Given the description of an element on the screen output the (x, y) to click on. 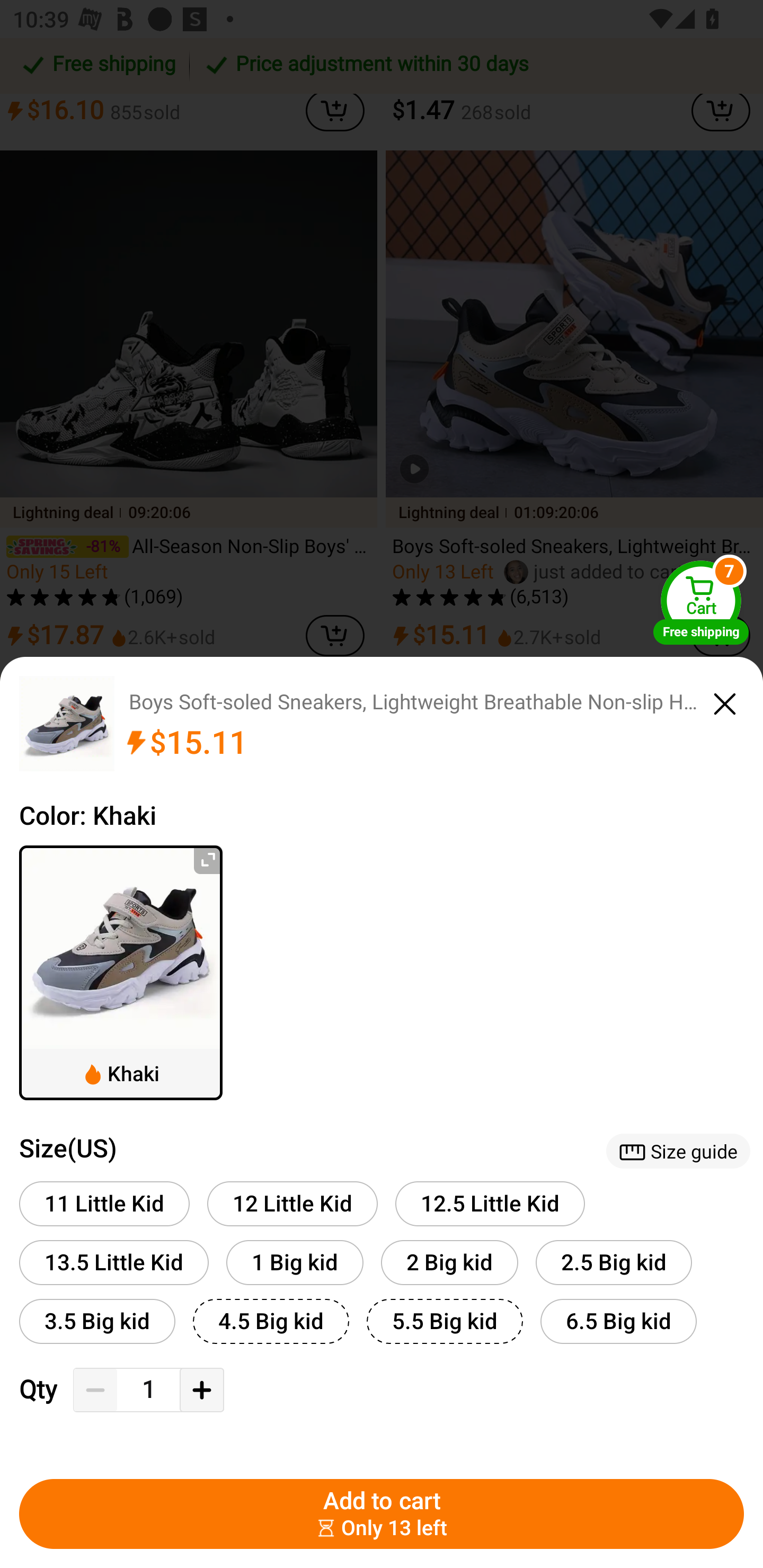
Cart Free shipping Cart (701, 602)
close (724, 701)
Khaki ￼Khaki (120, 972)
￼Size guide (677, 1150)
 11 Little Kid (104, 1203)
 12 Little Kid (292, 1203)
 12.5 Little Kid (490, 1203)
 13.5 Little Kid (114, 1262)
 1 Big kid (294, 1262)
 2 Big kid (449, 1262)
 2.5 Big kid (613, 1262)
 3.5 Big kid (97, 1320)
 4.5 Big kid (271, 1320)
 5.5 Big kid (444, 1320)
 6.5 Big kid (618, 1320)
Decrease Quantity Button (95, 1389)
Add Quantity Button (201, 1389)
1 (148, 1389)
Add to cart ￼￼Only 13 left (381, 1513)
